Given the description of an element on the screen output the (x, y) to click on. 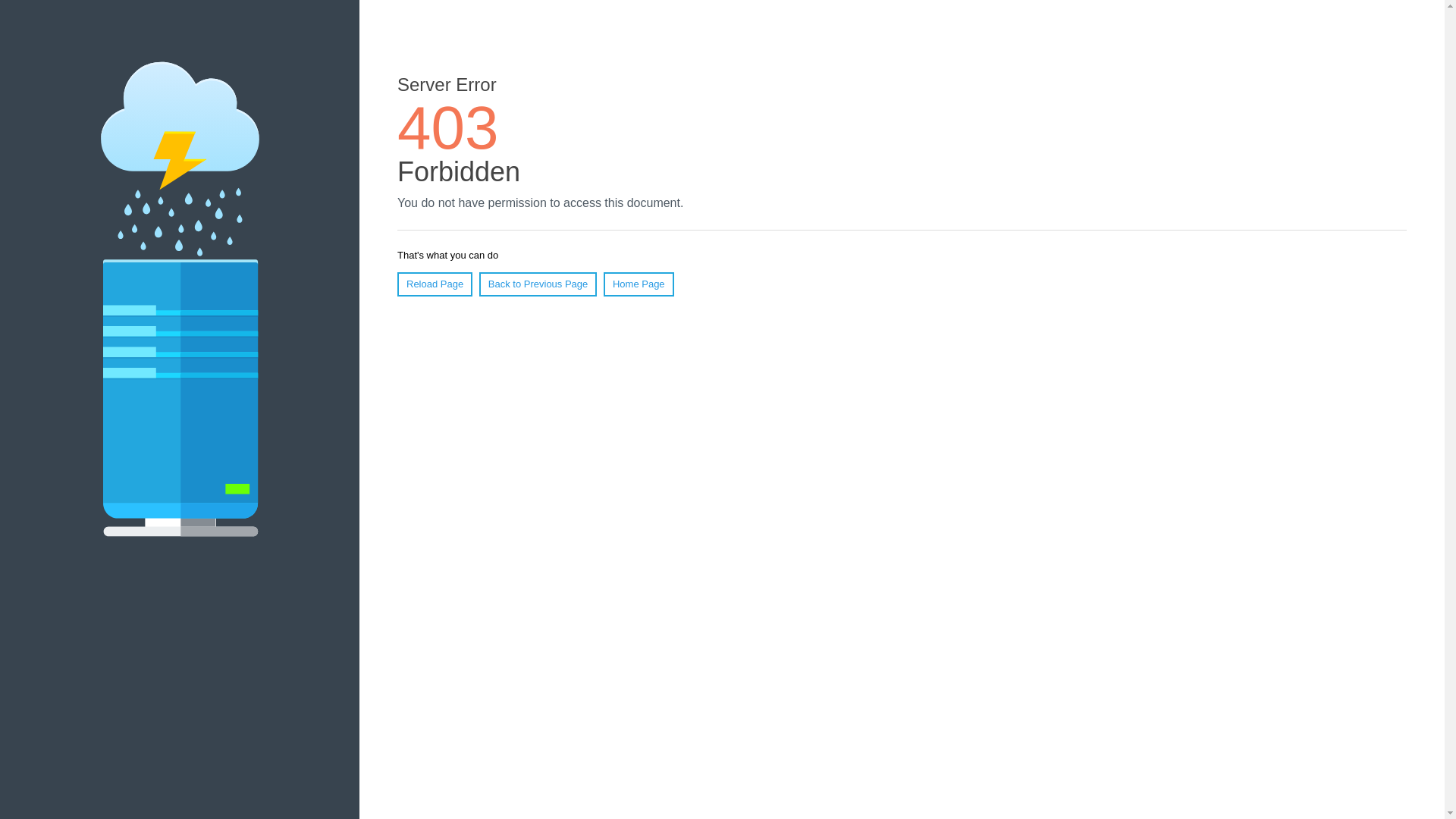
Home Page (639, 283)
Reload Page (434, 283)
Back to Previous Page (537, 283)
